Given the description of an element on the screen output the (x, y) to click on. 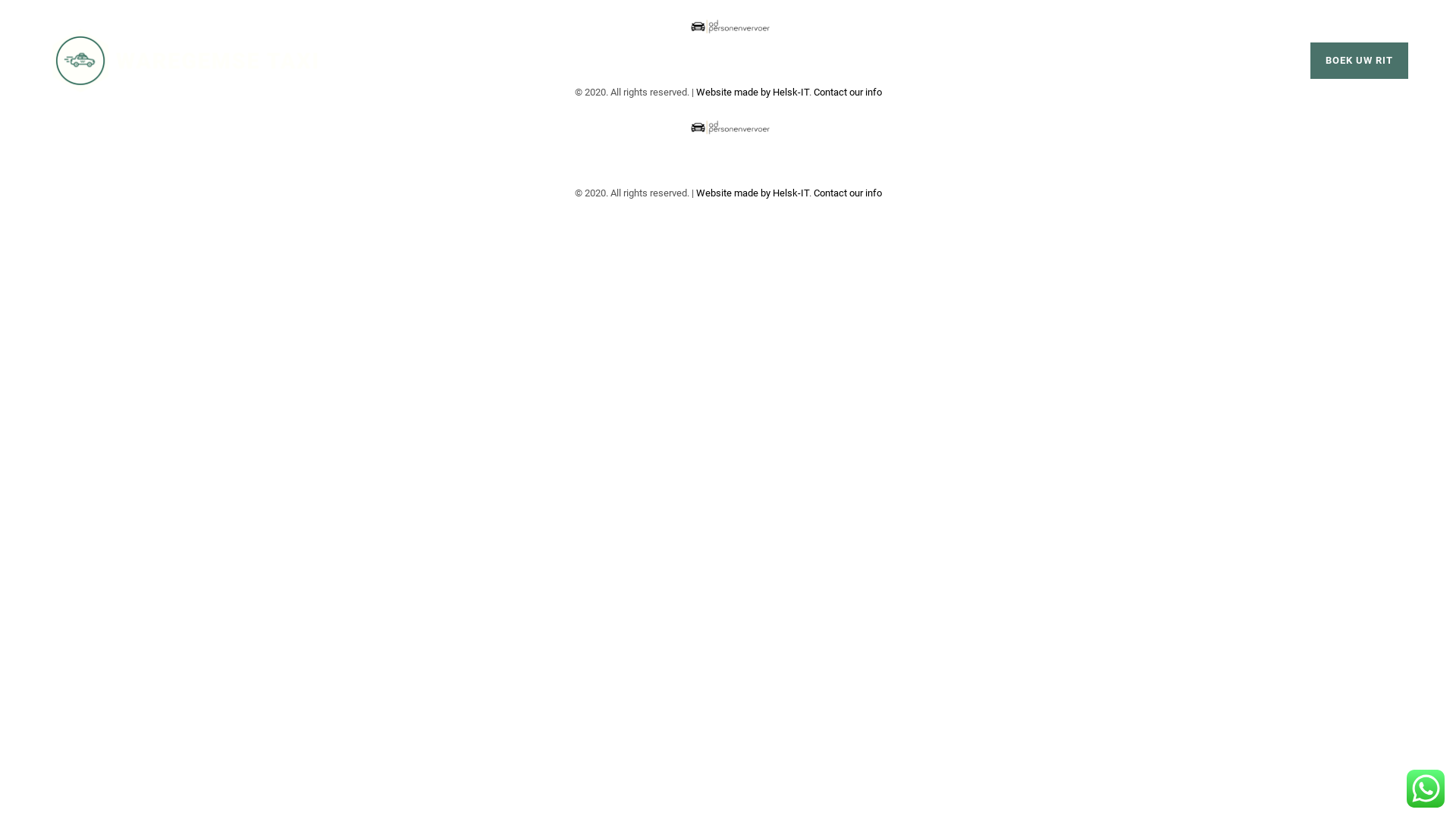
BOEK UW RIT Element type: text (1359, 60)
Website made by Helsk-IT Element type: text (752, 91)
BEL ONS: +32 489 066 432 Element type: text (1175, 60)
Contact our info Element type: text (846, 192)
Website made by Helsk-IT Element type: text (752, 192)
Contact our info Element type: text (846, 91)
Uw vervoerdienst Element type: hover (182, 60)
